Given the description of an element on the screen output the (x, y) to click on. 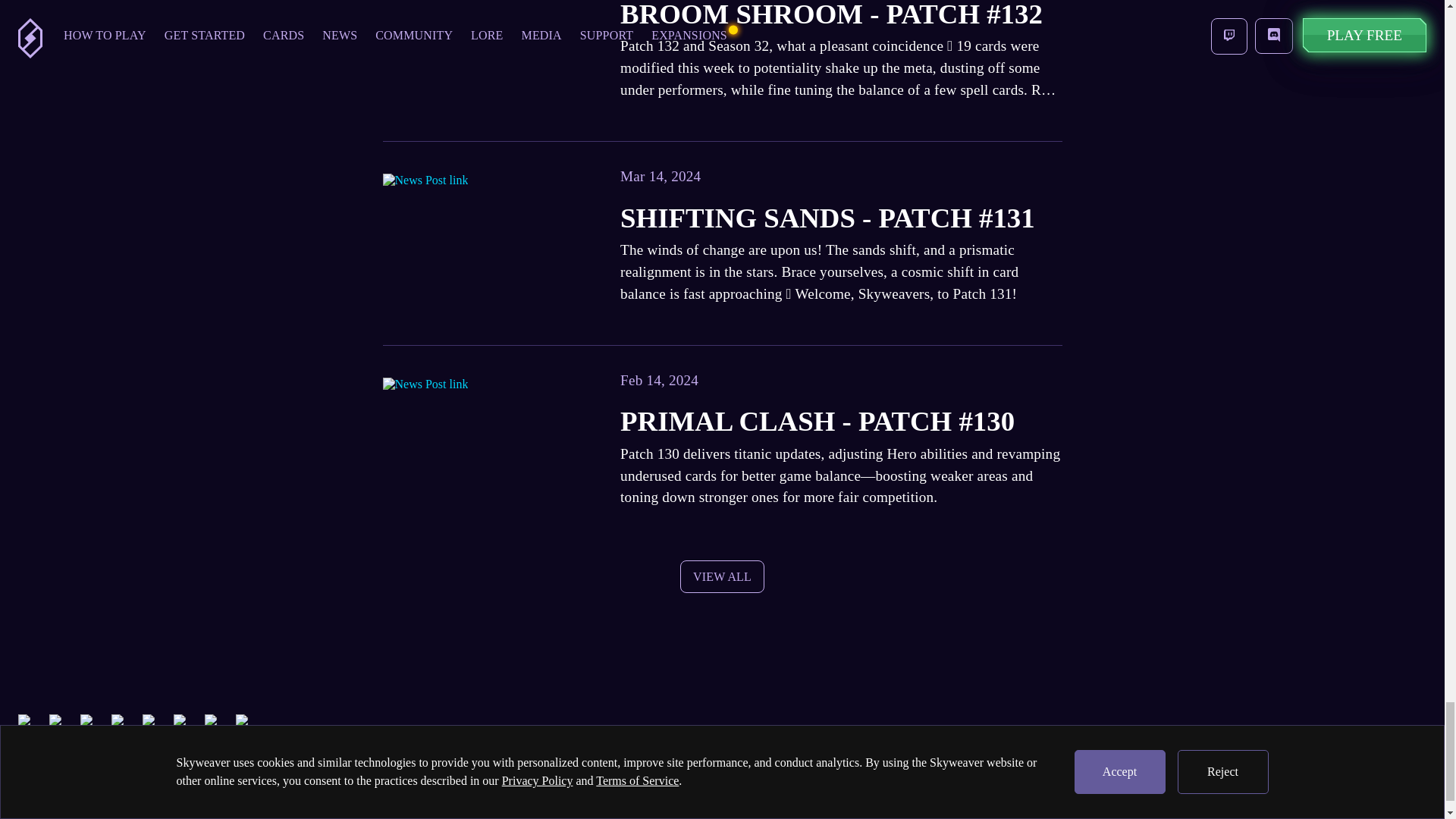
VIEW ALL (721, 576)
